Given the description of an element on the screen output the (x, y) to click on. 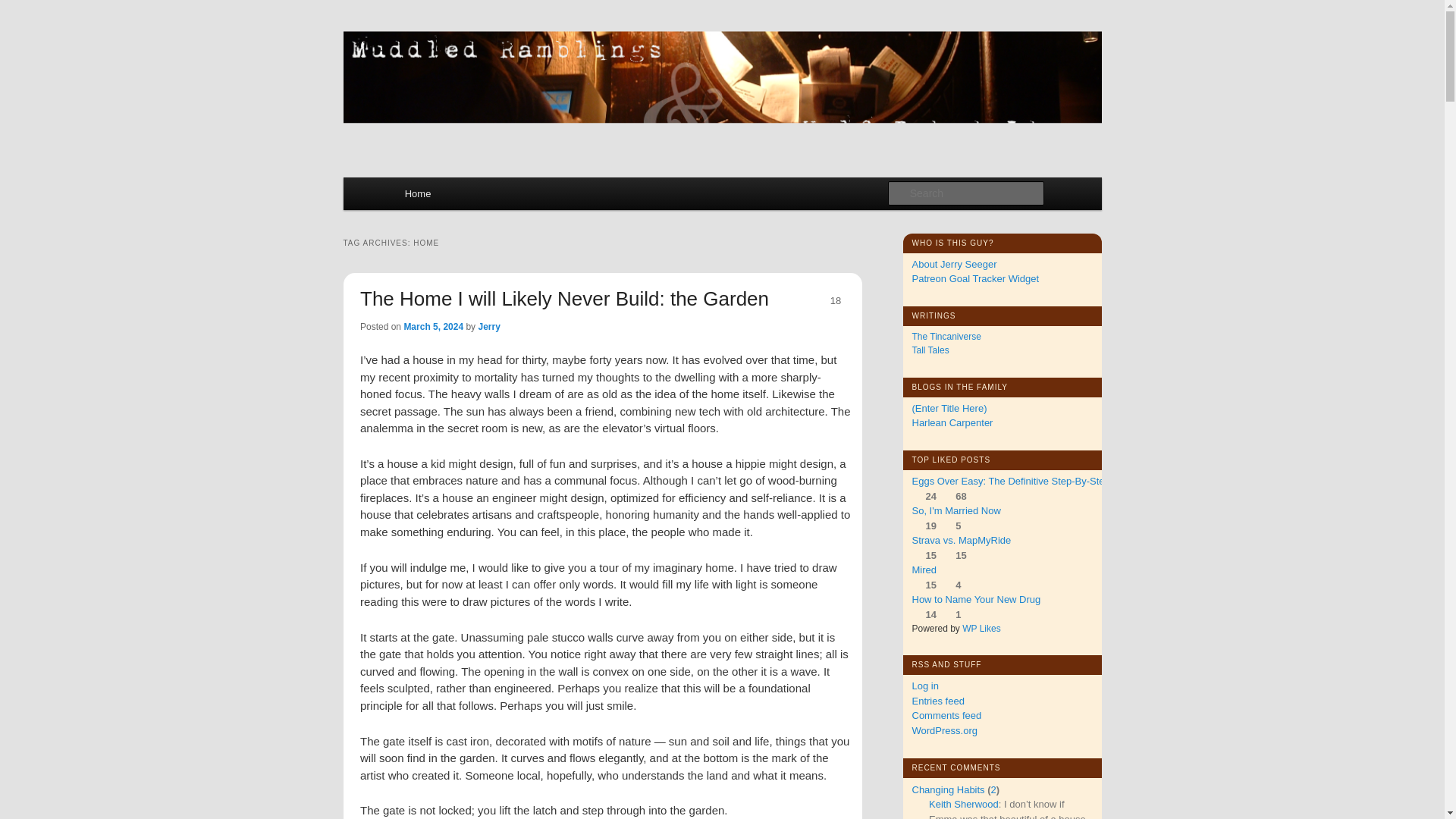
18 (834, 300)
Muddled Ramblings and Half-Baked Ideas (626, 77)
Home (417, 193)
Search (24, 8)
March 5, 2024 (433, 326)
Jerry (488, 326)
The Home I will Likely Never Build: the Garden (563, 298)
View all posts by Jerry (488, 326)
7:10 pm (433, 326)
